Given the description of an element on the screen output the (x, y) to click on. 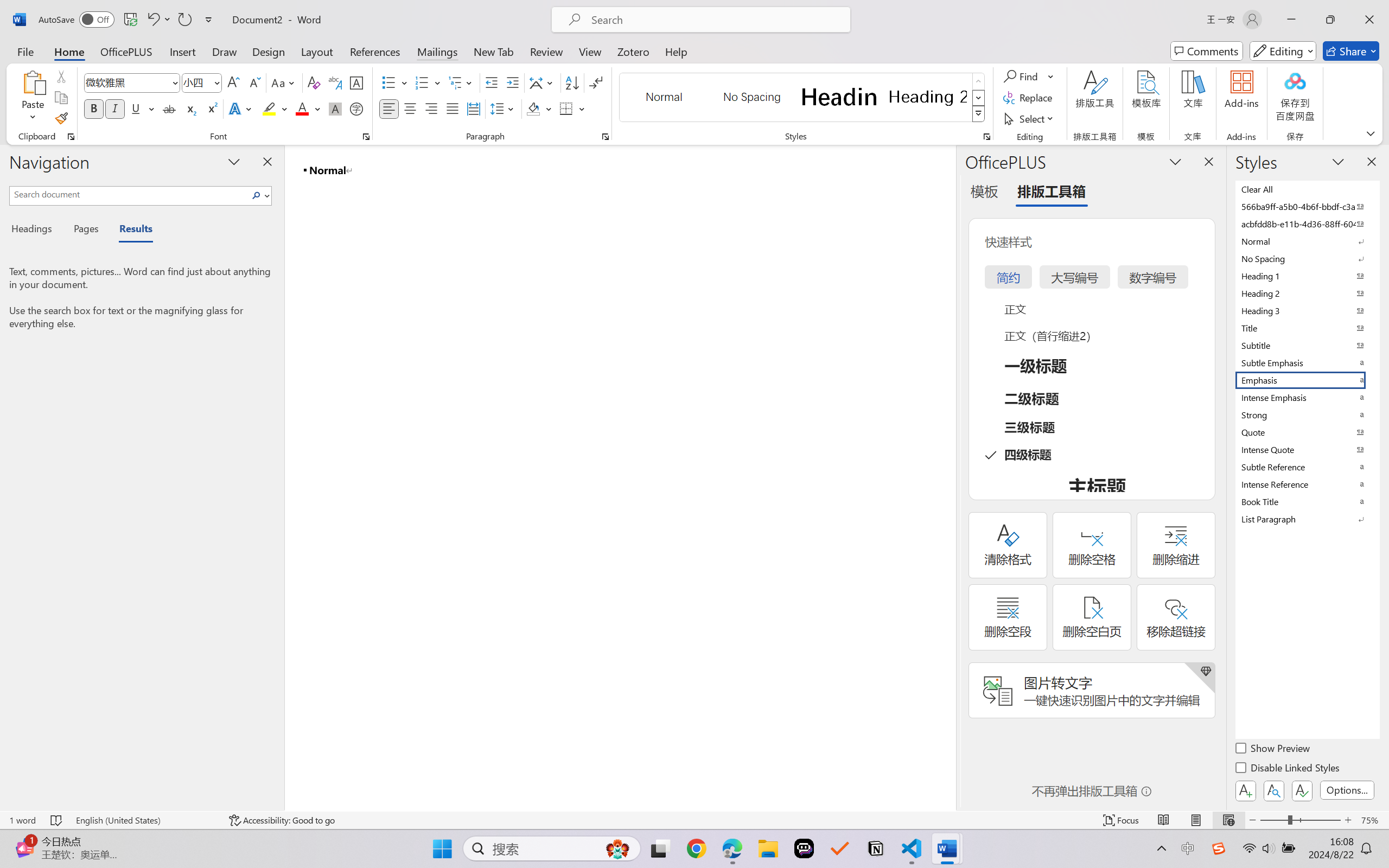
Distributed (473, 108)
Subtle Reference (1306, 466)
Phonetic Guide... (334, 82)
Emphasis (1306, 379)
Intense Quote (1306, 449)
Office Clipboard... (70, 136)
Character Border (356, 82)
Search (256, 195)
Minimize (1291, 19)
